Given the description of an element on the screen output the (x, y) to click on. 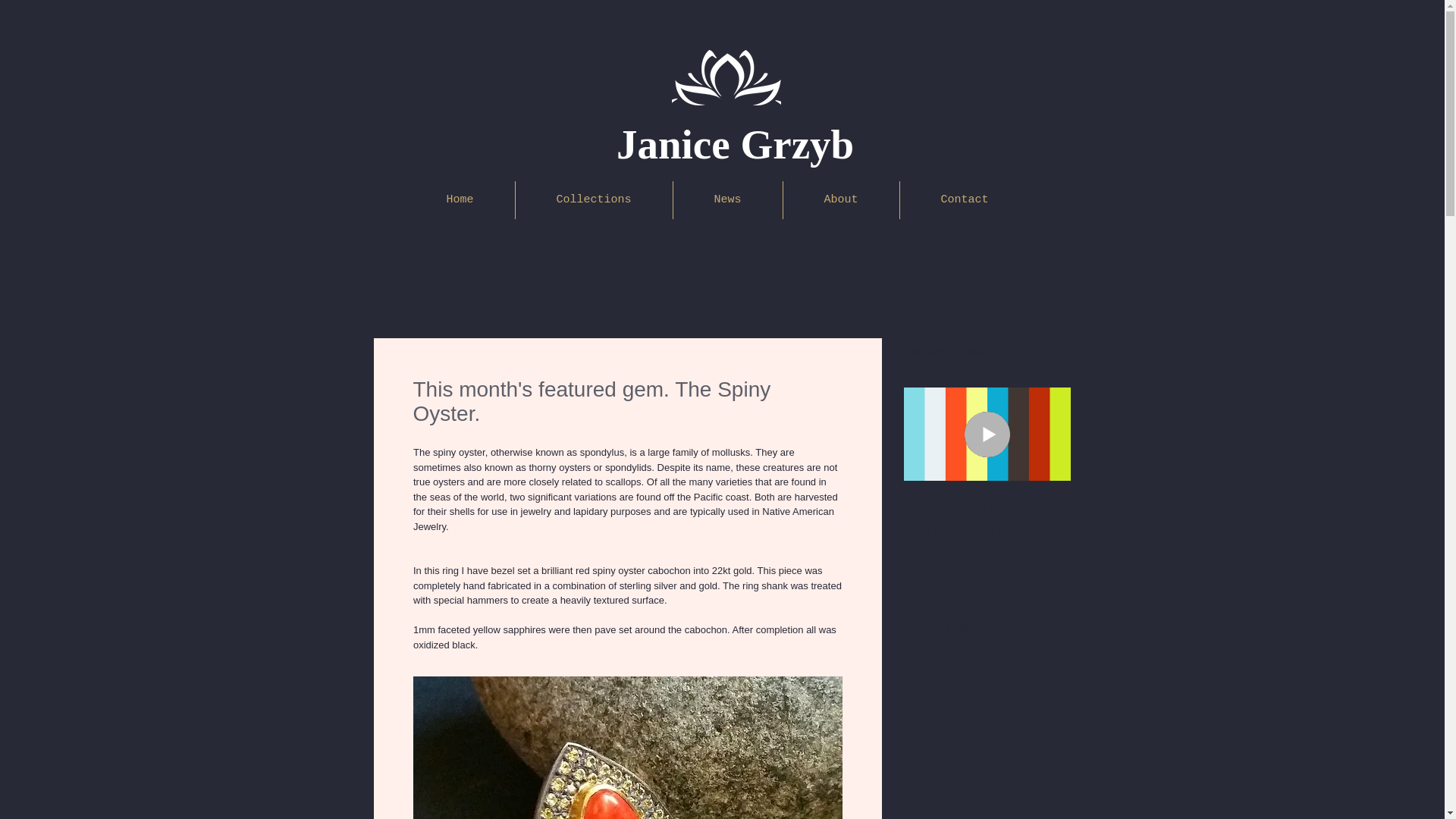
Watch Mr. Park demonstrating pave setting. (987, 529)
Collections (593, 199)
News (727, 199)
About (840, 199)
Contact (964, 199)
Home (458, 199)
